Given the description of an element on the screen output the (x, y) to click on. 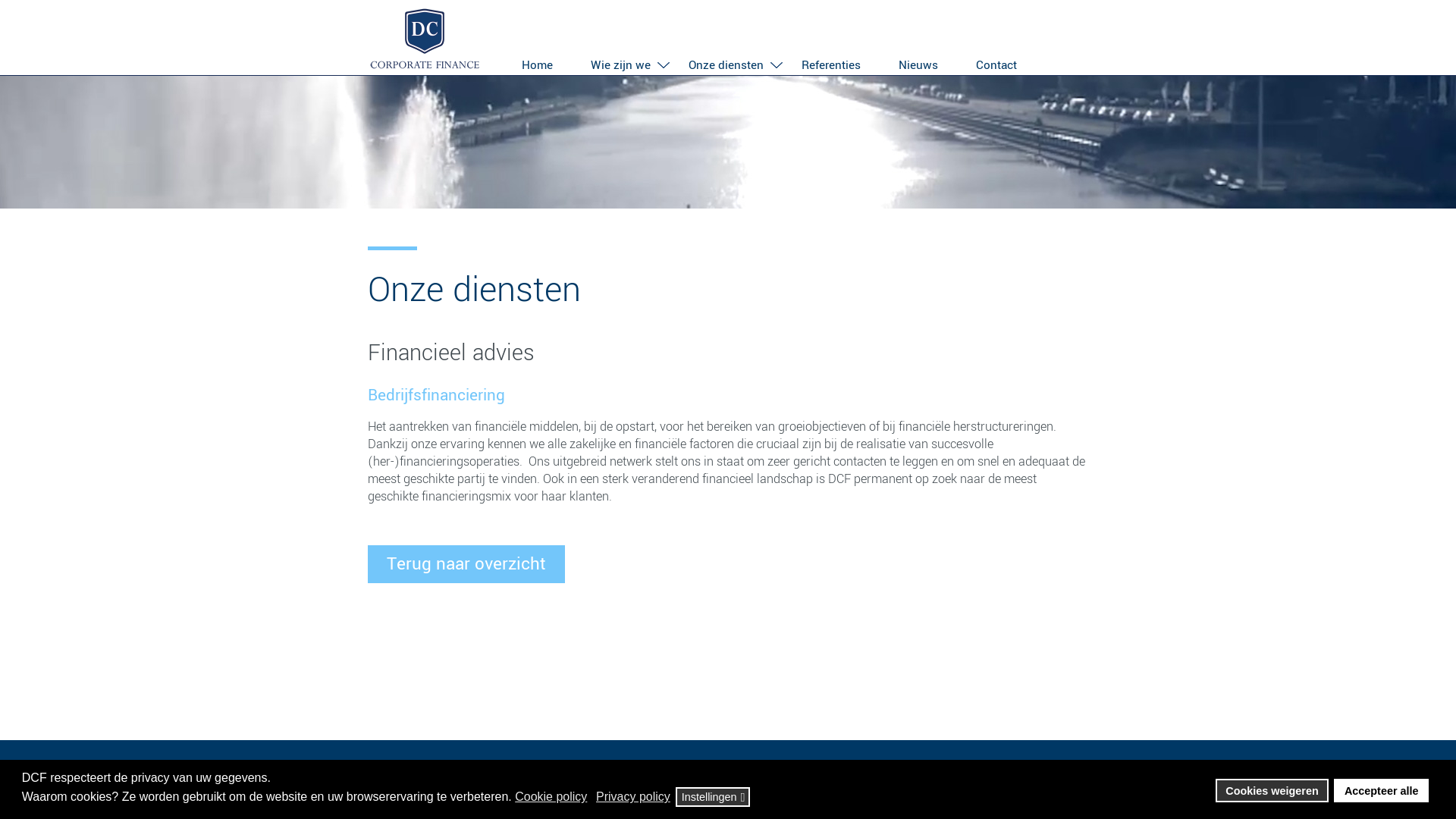
Home Element type: text (536, 62)
Privacy policy Element type: text (634, 796)
Cookies weigeren Element type: text (1271, 790)
Referenties Element type: text (830, 62)
Wie zijn we Element type: text (620, 62)
Accepteer alle Element type: text (1380, 790)
Cookie policy Element type: text (551, 796)
Onze diensten Element type: text (725, 62)
Terug naar overzicht Element type: text (465, 564)
Nieuws Element type: text (918, 62)
Contact Element type: text (996, 62)
